Given the description of an element on the screen output the (x, y) to click on. 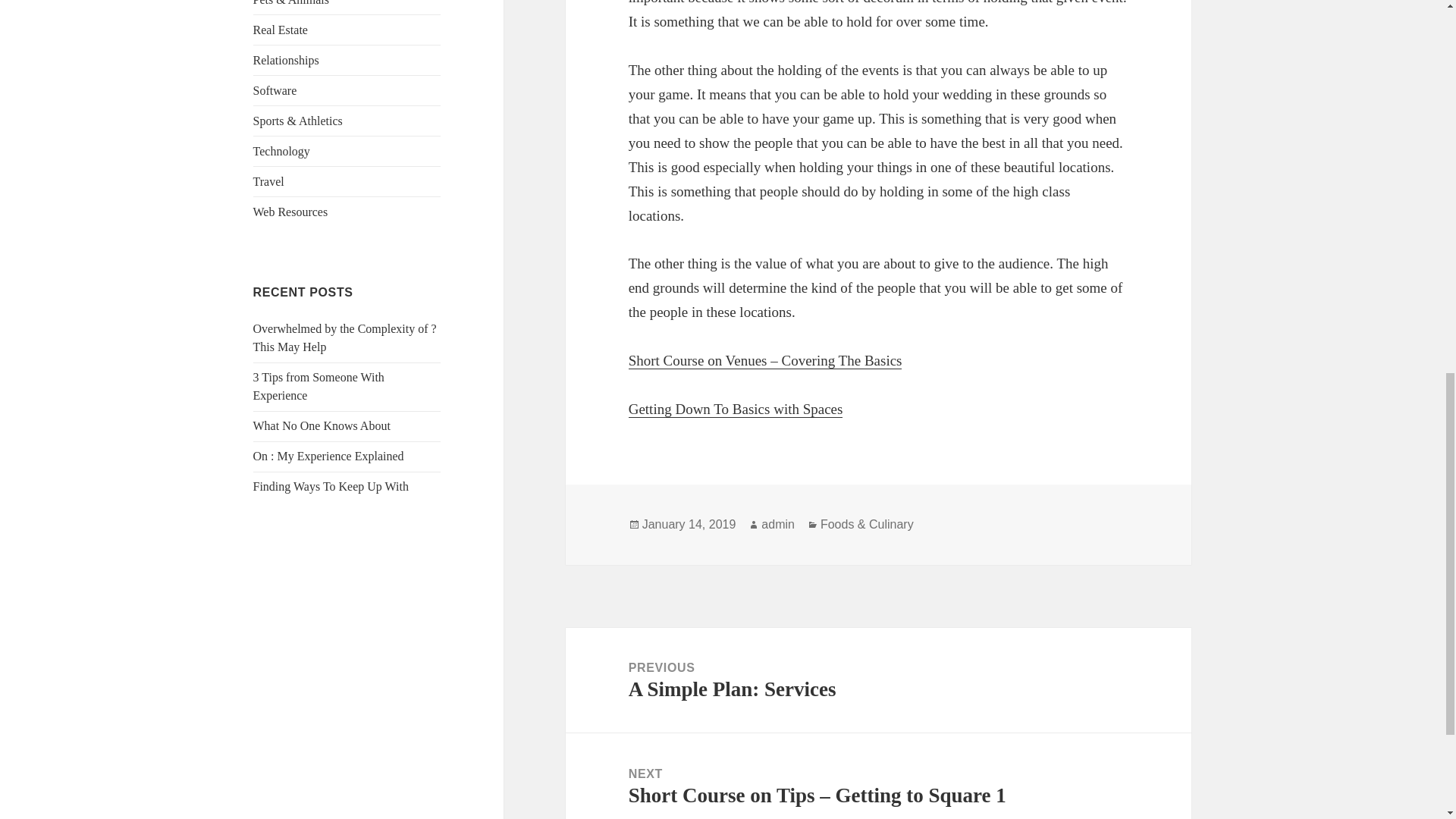
Real Estate (280, 29)
admin (777, 524)
Relationships (878, 680)
Travel (285, 60)
Software (268, 181)
Finding Ways To Keep Up With (275, 90)
What No One Knows About (331, 486)
Web Resources (321, 425)
Technology (291, 211)
